Given the description of an element on the screen output the (x, y) to click on. 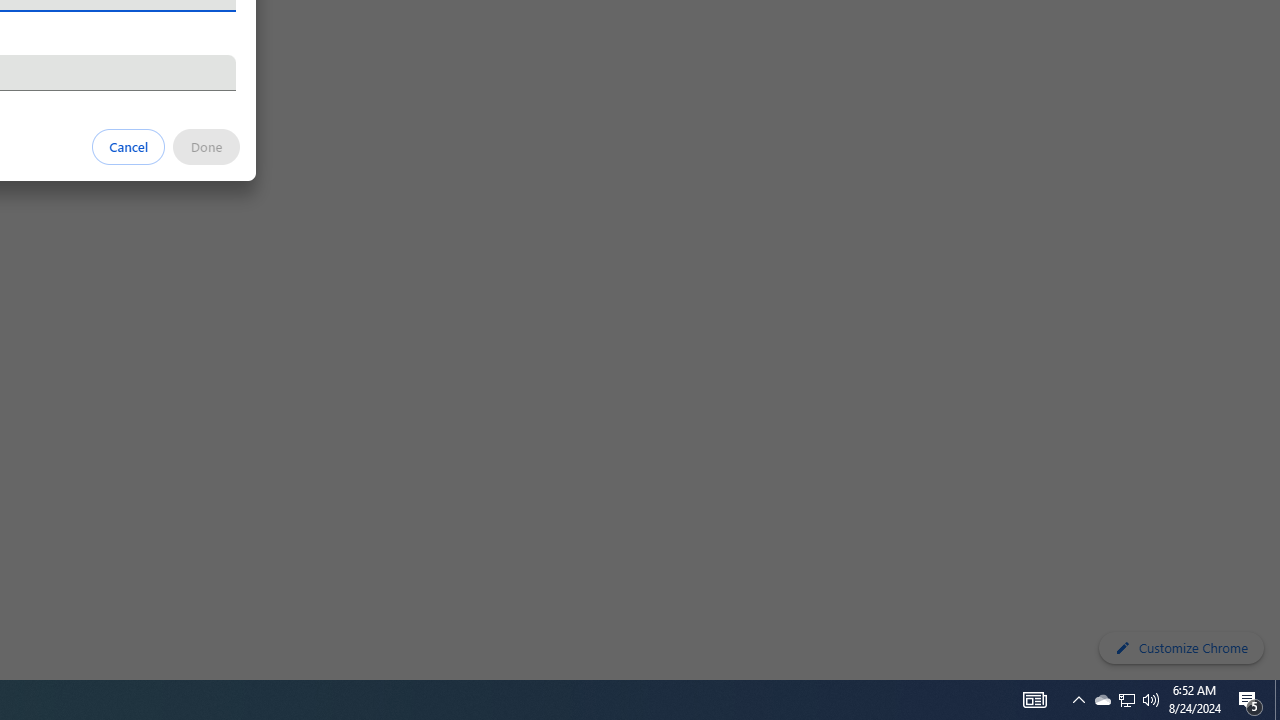
Cancel (129, 146)
Done (206, 146)
